Given the description of an element on the screen output the (x, y) to click on. 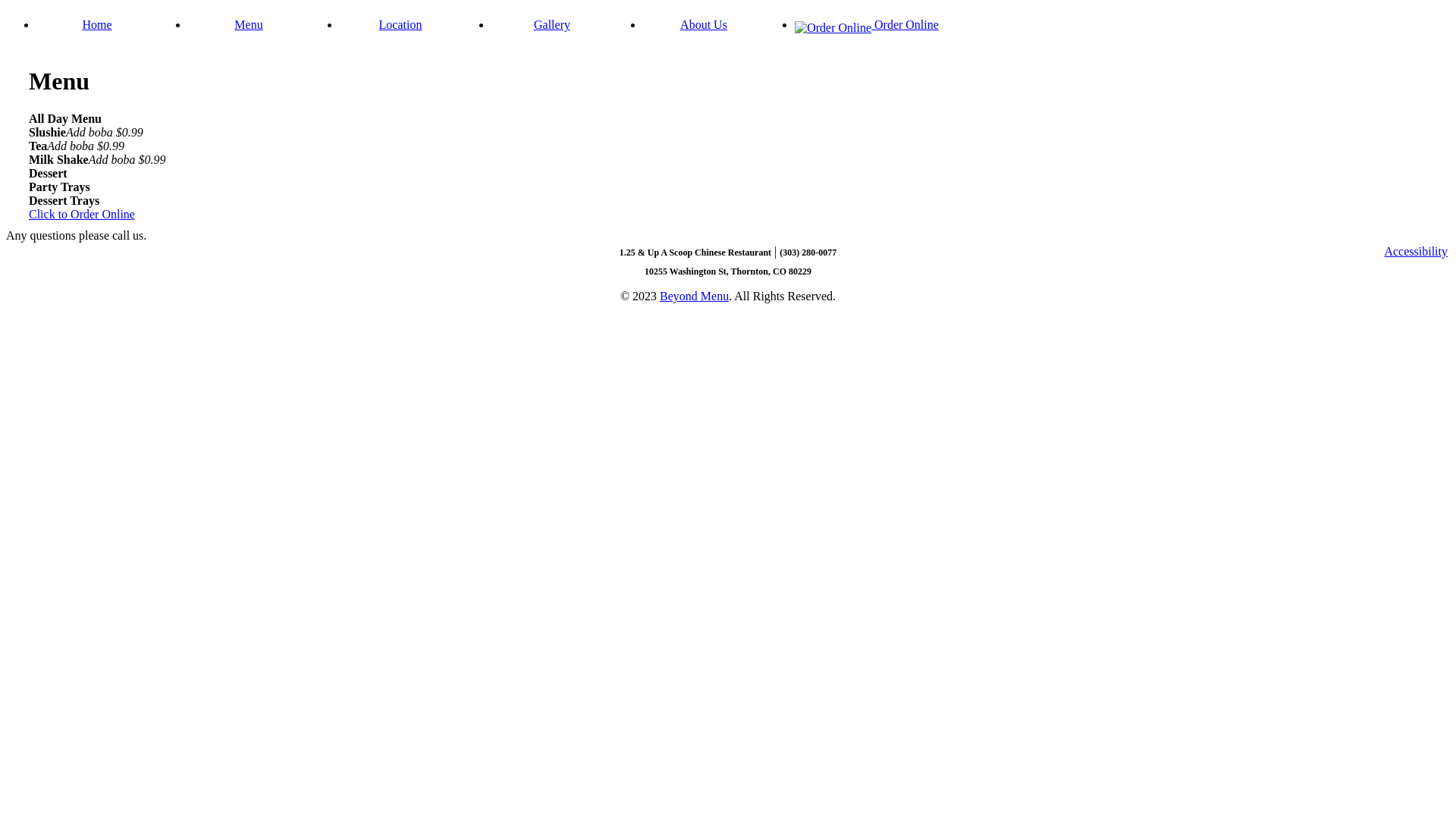
Click to Order Online Element type: text (81, 213)
Menu Element type: text (248, 24)
Beyond Menu Element type: text (693, 295)
 Order Online Element type: text (866, 24)
About Us Element type: text (703, 24)
Accessibility Element type: text (1415, 250)
Gallery Element type: text (551, 24)
Location Element type: text (400, 24)
Home Element type: text (96, 24)
